Given the description of an element on the screen output the (x, y) to click on. 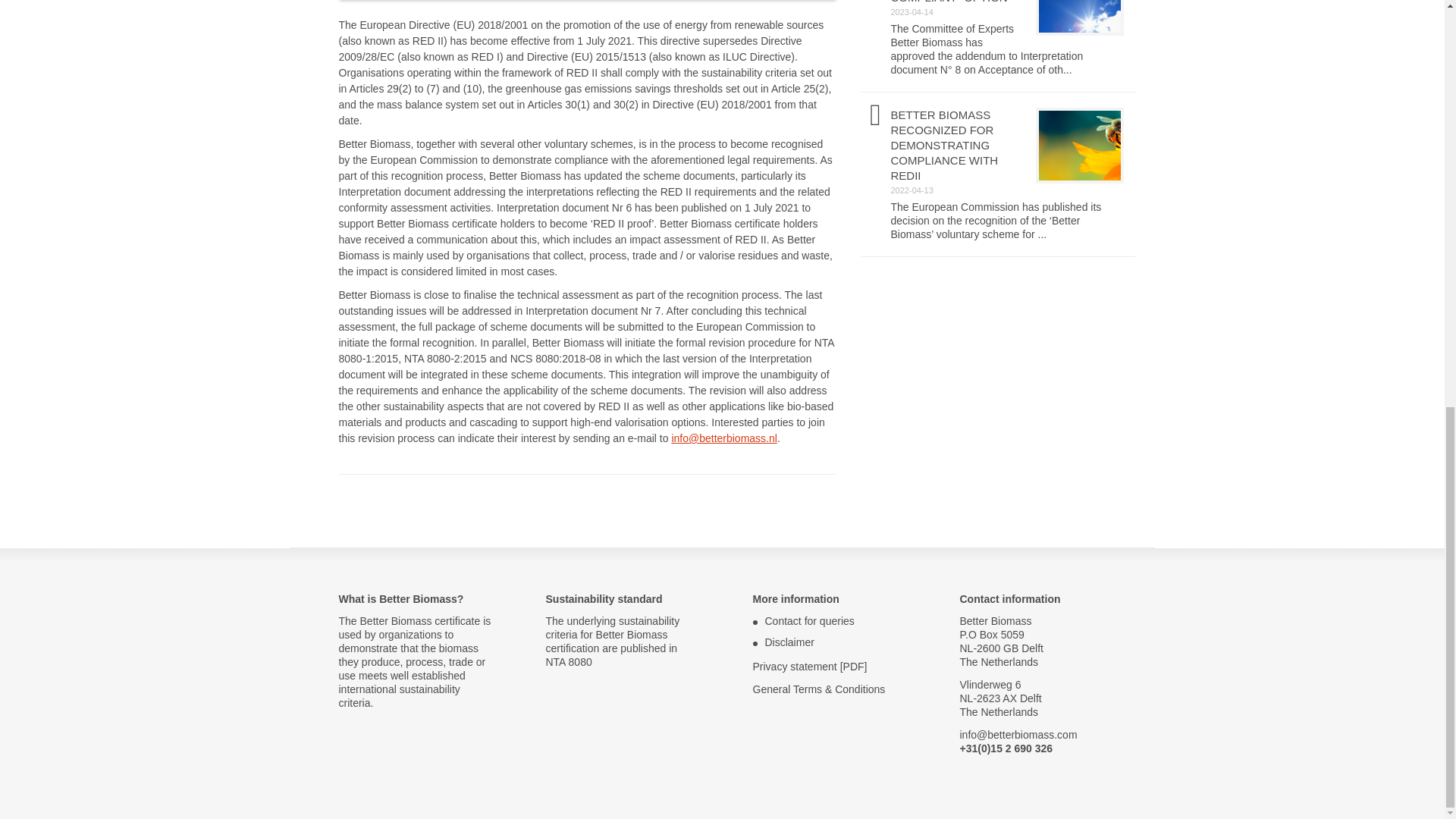
Contact for queries (808, 621)
Disclaimer (788, 642)
